Given the description of an element on the screen output the (x, y) to click on. 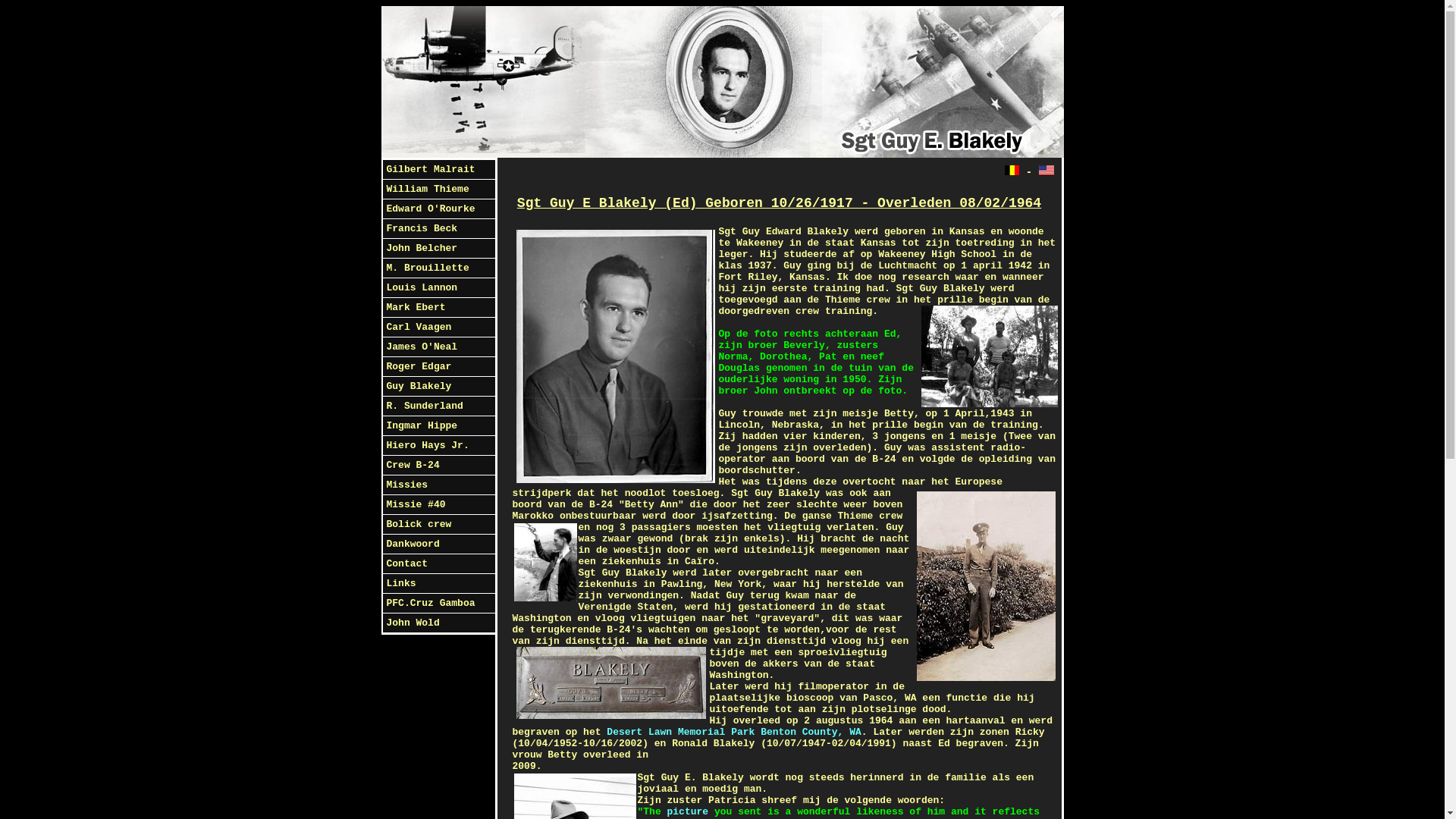
Ingmar Hippe Element type: text (438, 426)
John Wold Element type: text (438, 623)
Dankwoord Element type: text (438, 544)
Contact Element type: text (438, 564)
M. Brouillette Element type: text (438, 268)
Carl Vaagen Element type: text (438, 327)
Links Element type: text (438, 583)
Edward O'Rourke Element type: text (438, 209)
Missie #40 Element type: text (438, 504)
William Thieme Element type: text (438, 189)
Mark Ebert Element type: text (438, 307)
Guy Blakely Element type: text (438, 386)
Roger Edgar Element type: text (438, 366)
Bolick crew Element type: text (438, 524)
picture Element type: text (688, 811)
R. Sunderland Element type: text (438, 406)
Hiero Hays Jr. Element type: text (438, 445)
John Belcher Element type: text (438, 248)
Crew B-24 Element type: text (438, 465)
James O'Neal Element type: text (438, 347)
PFC.Cruz Gamboa Element type: text (438, 603)
Louis Lannon Element type: text (438, 288)
Desert Lawn Memorial Park Benton County, WA Element type: text (733, 731)
Francis Beck Element type: text (438, 228)
Gilbert Malrait Element type: text (438, 169)
Missies Element type: text (438, 485)
